Given the description of an element on the screen output the (x, y) to click on. 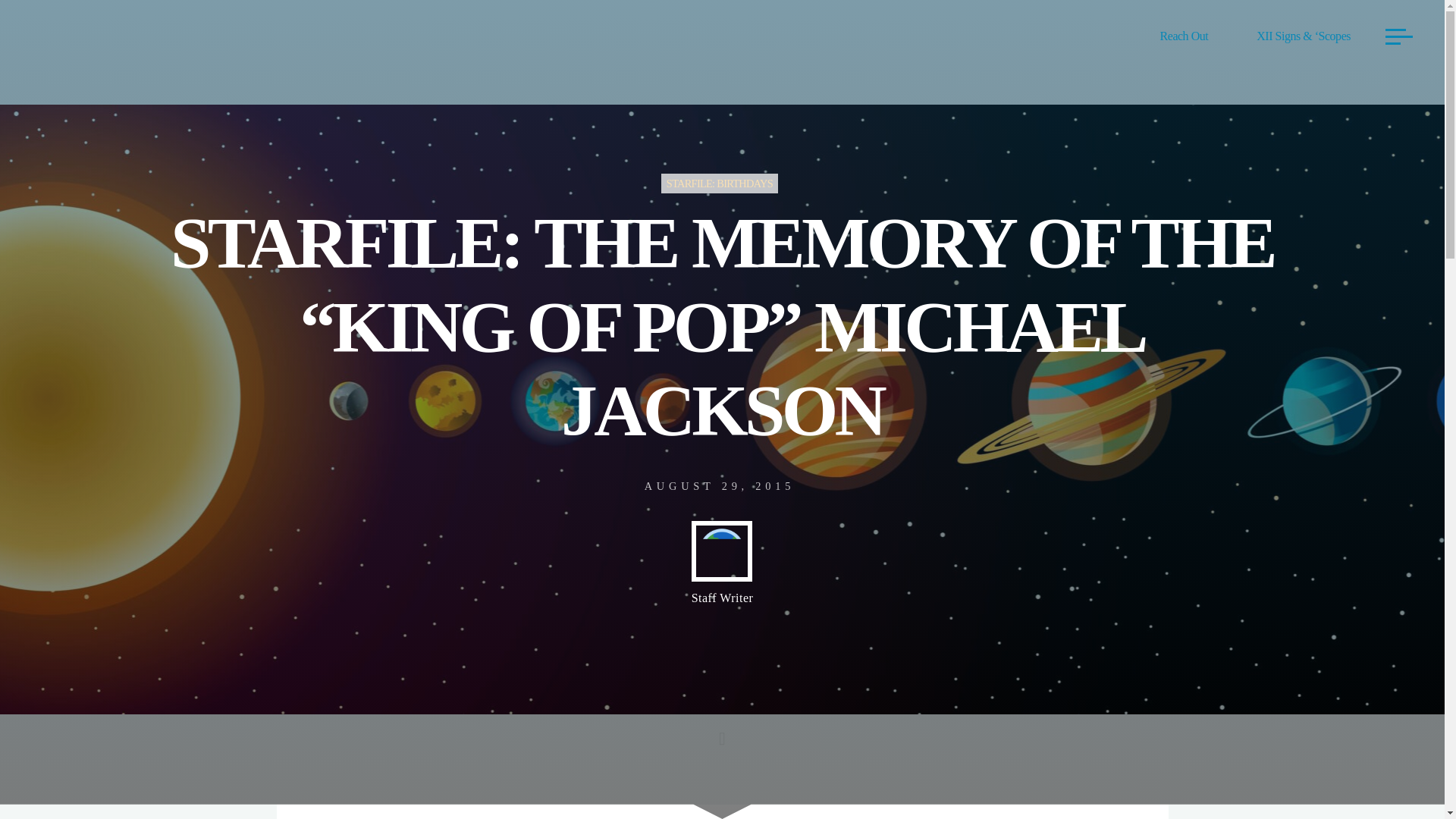
View all posts by Staff Writer (722, 562)
Staff Writer (722, 562)
Reach Out (1184, 35)
Read more (721, 724)
XII (357, 35)
STARFILE: BIRTHDAYS (719, 183)
